Given the description of an element on the screen output the (x, y) to click on. 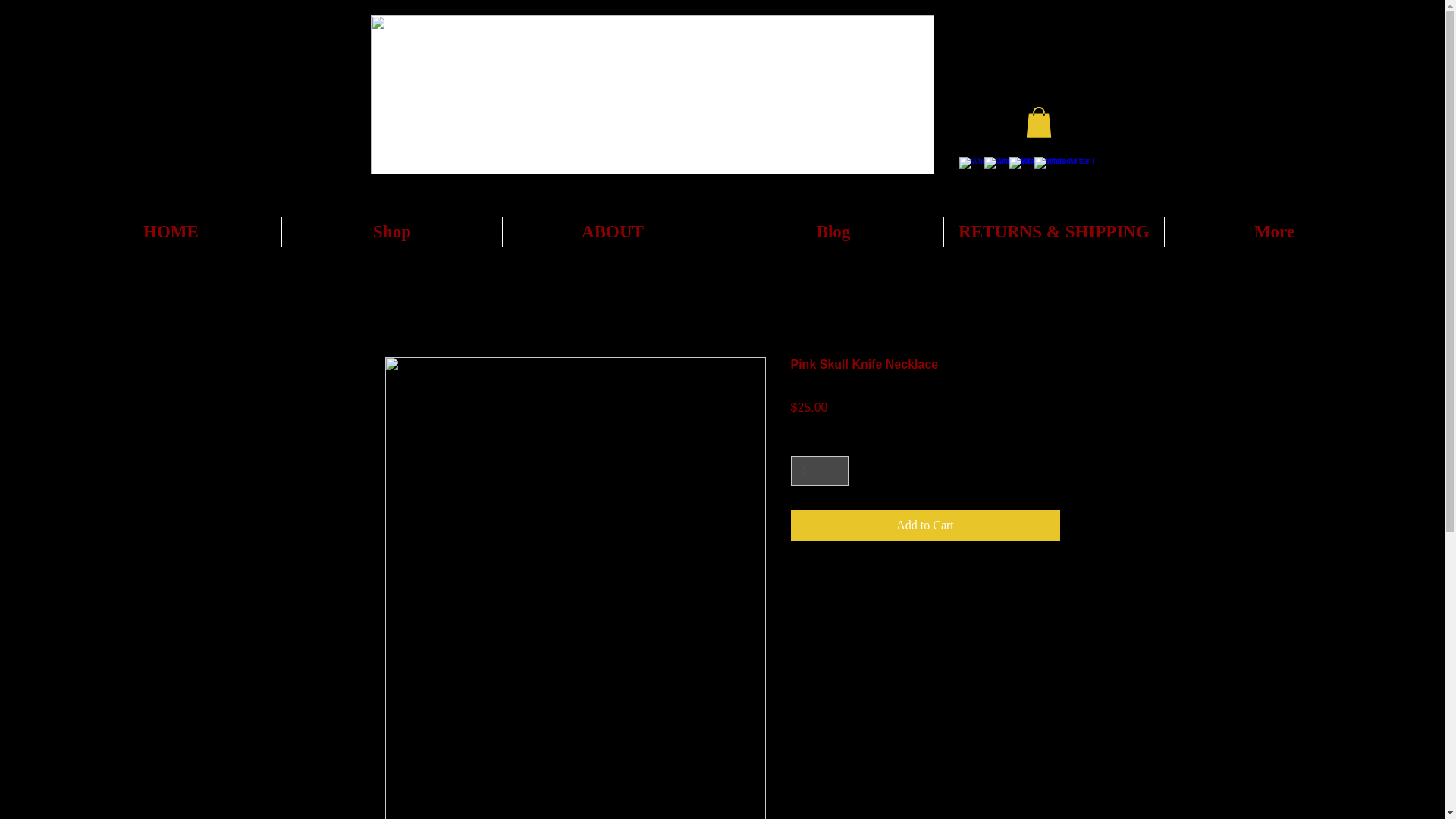
HOME (171, 232)
Add to Cart (924, 525)
ABOUT (612, 232)
Shop (391, 232)
Blog (832, 232)
1 (818, 470)
